Given the description of an element on the screen output the (x, y) to click on. 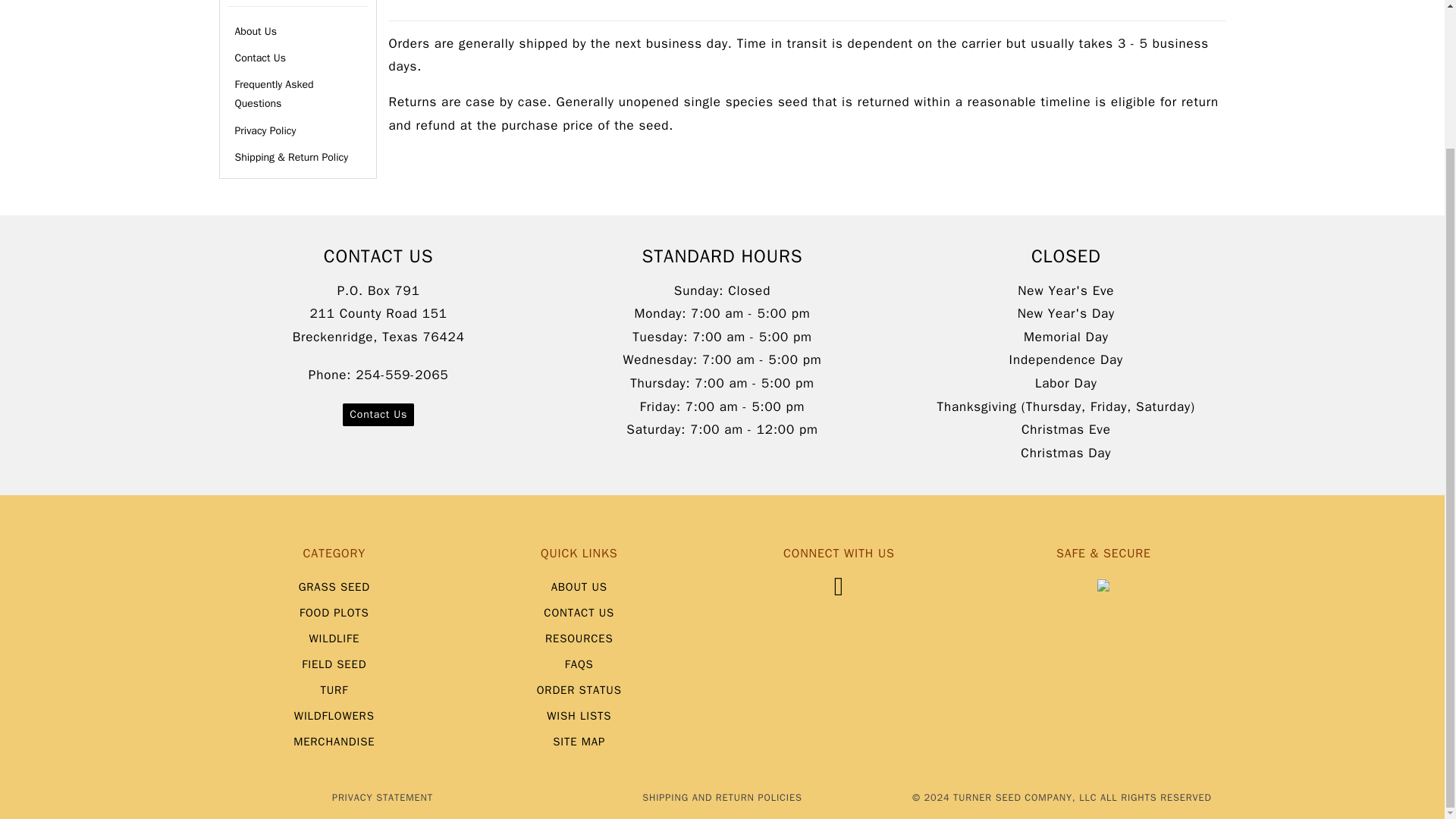
FOOD PLOTS (334, 612)
Frequently Asked Questions (297, 94)
Contact Us (297, 58)
About Us (297, 31)
Contact Us (377, 414)
GRASS SEED (333, 587)
Sign In (1092, 64)
Contact Us (297, 58)
Privacy Policy (297, 130)
Privacy Policy (297, 130)
